Given the description of an element on the screen output the (x, y) to click on. 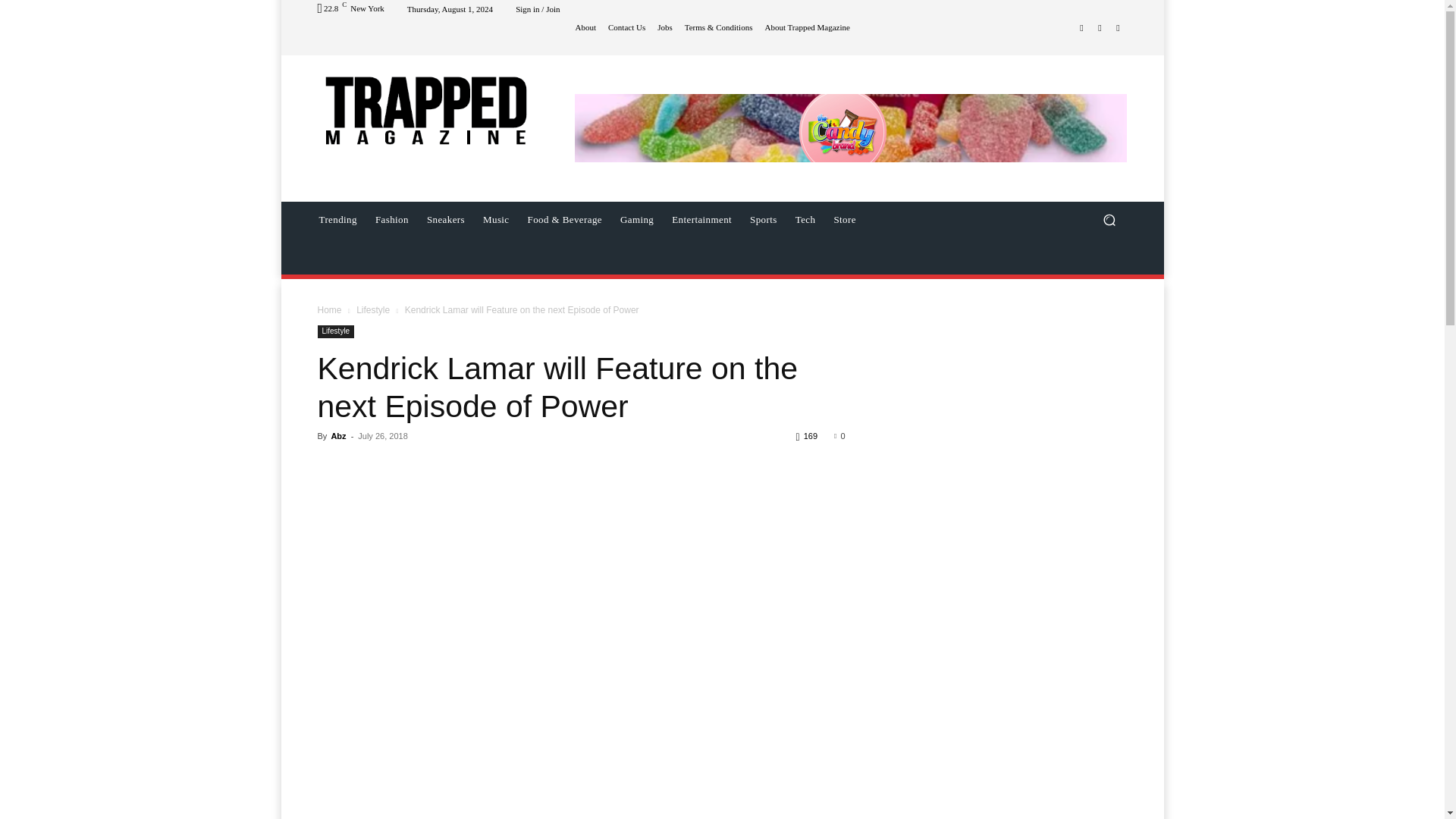
Fashion (391, 219)
Trending (336, 219)
Contact Us (626, 27)
About (585, 27)
Music (496, 219)
Gaming (636, 219)
View all posts in Lifestyle (373, 309)
Facebook (1080, 27)
Trapped Magazine (425, 109)
About Trapped Magazine (806, 27)
